Given the description of an element on the screen output the (x, y) to click on. 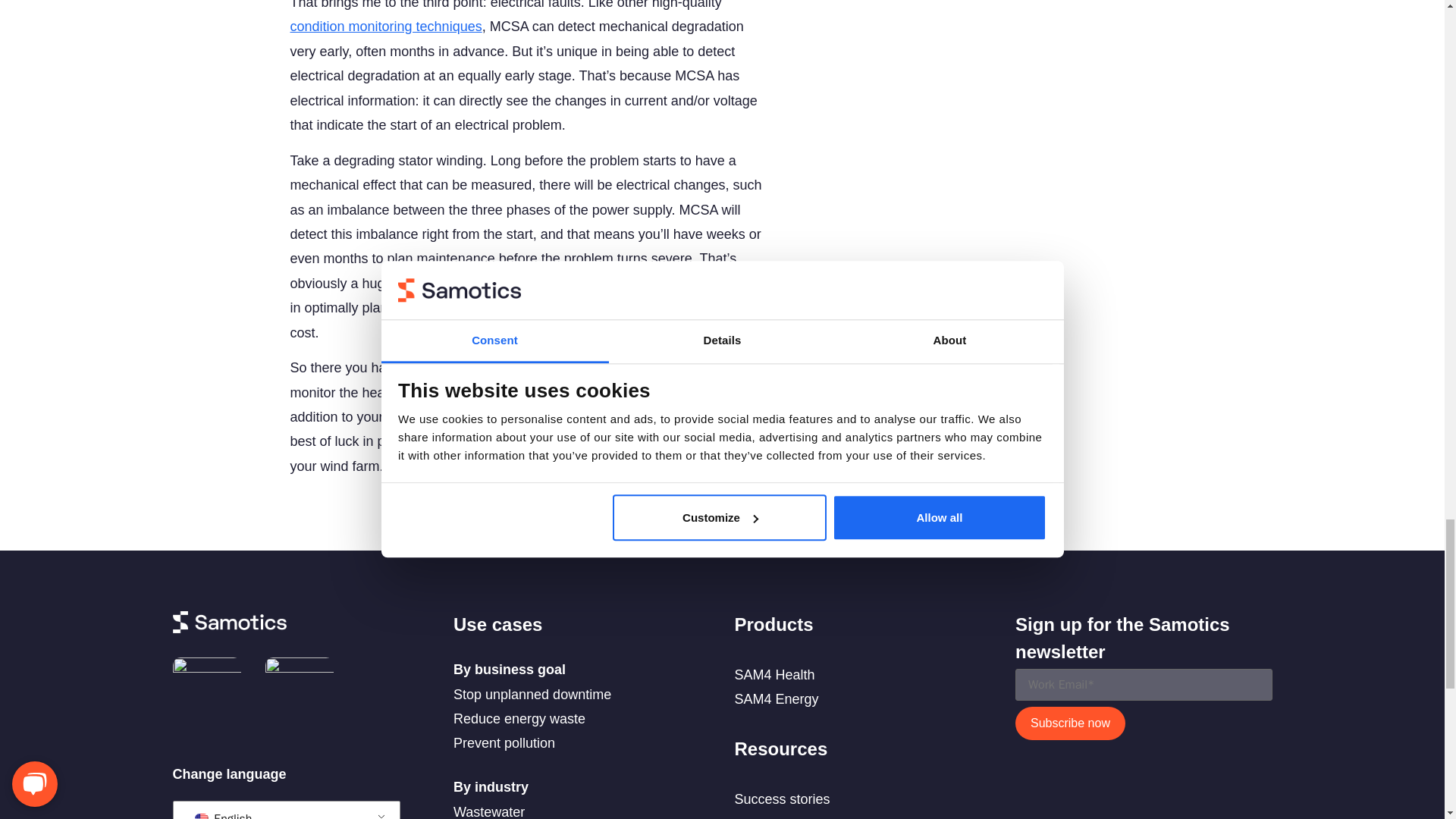
Subscribe now (1069, 723)
